Given the description of an element on the screen output the (x, y) to click on. 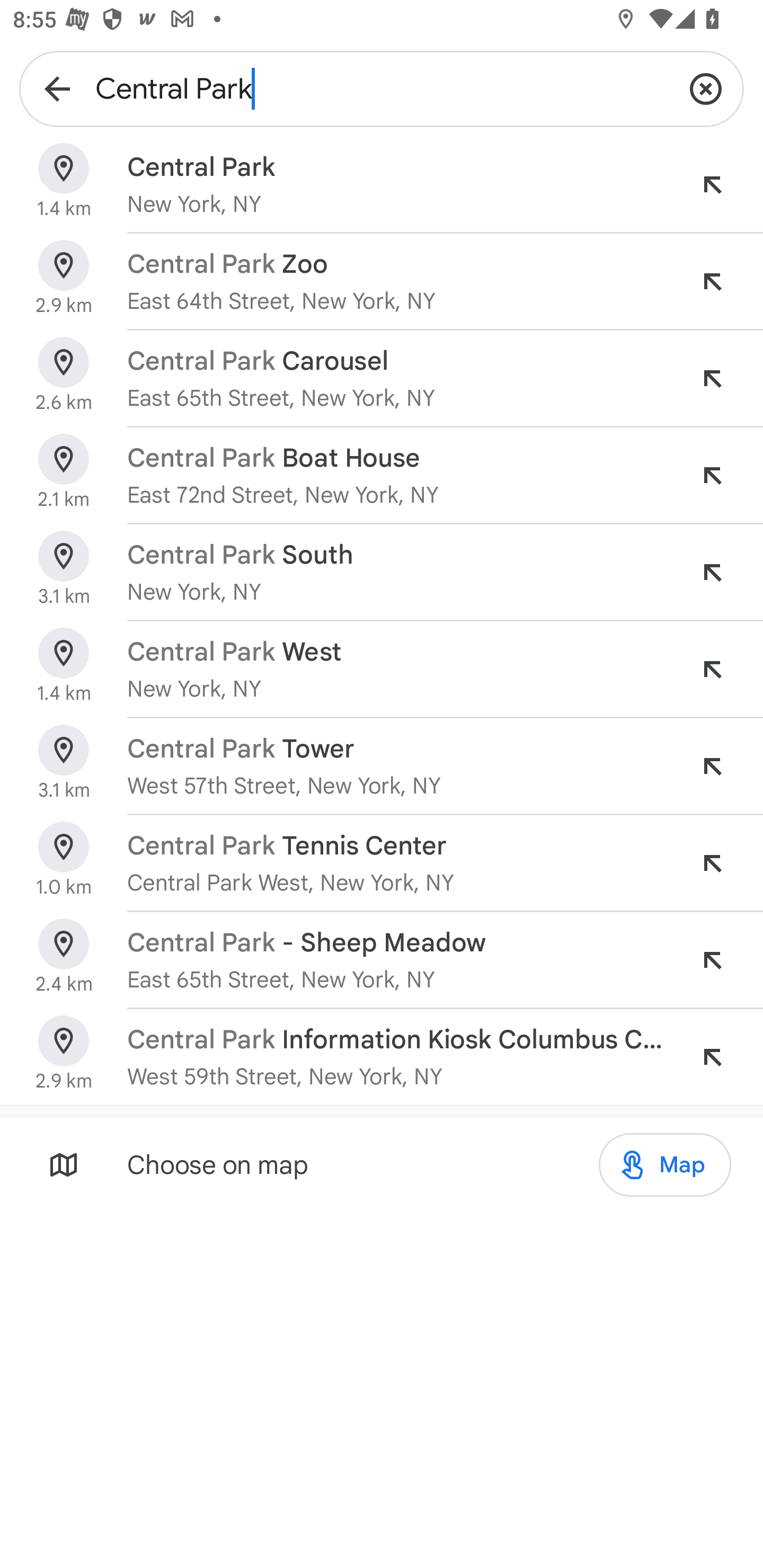
Navigate up (57, 88)
Central Park (381, 88)
Clear (705, 88)
Choose on map Map Map Map (381, 1164)
Map Map Map (664, 1164)
